Given the description of an element on the screen output the (x, y) to click on. 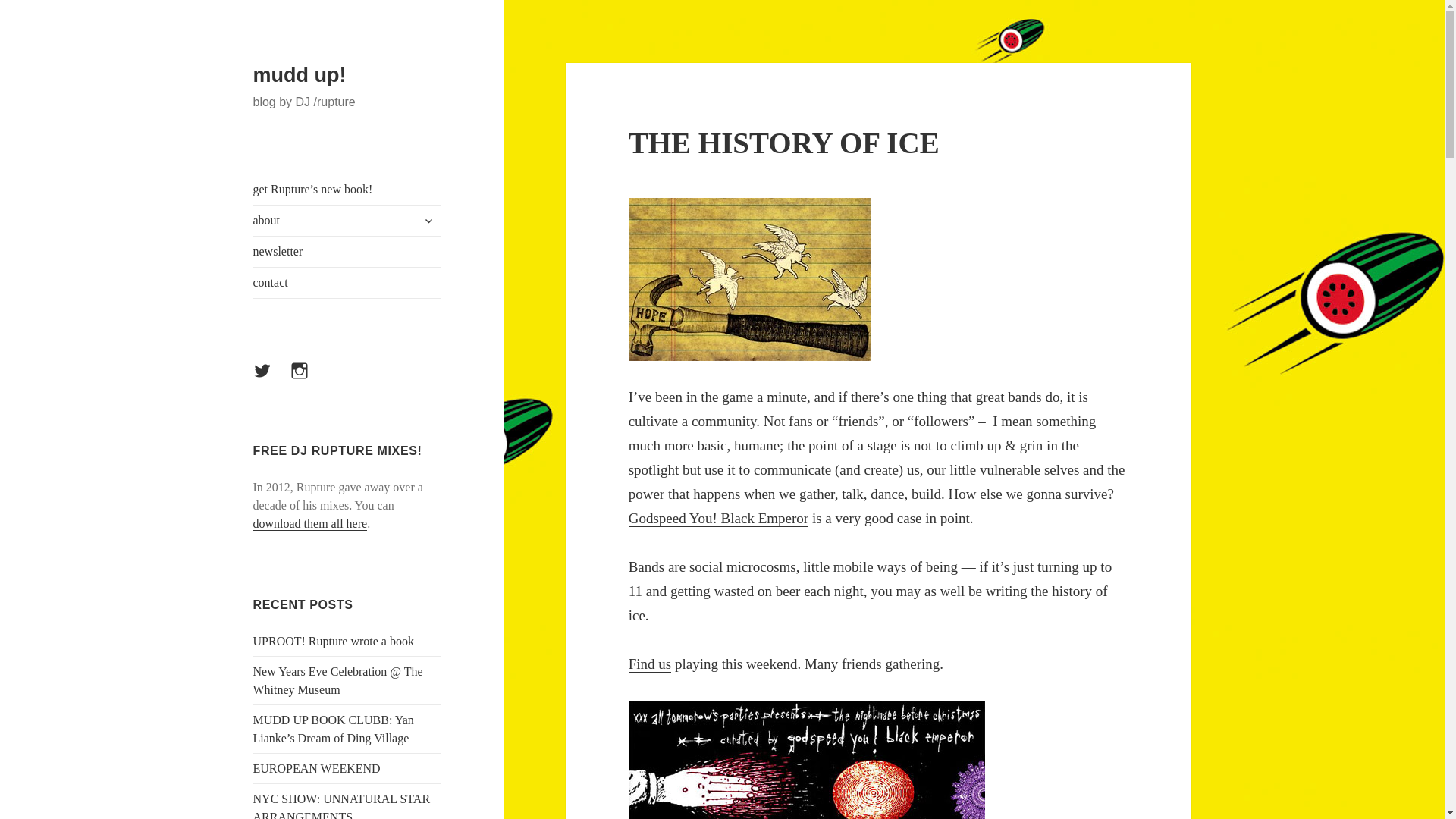
NYC SHOW: UNNATURAL STAR ARRANGEMENTS (341, 805)
contact (347, 282)
about (347, 220)
newsletter (347, 251)
UPROOT! Rupture wrote a book (333, 640)
expand child menu (428, 220)
instagram (307, 379)
EUROPEAN WEEKEND (316, 768)
download them all here (310, 523)
twitter (271, 379)
mudd up! (299, 74)
